Given the description of an element on the screen output the (x, y) to click on. 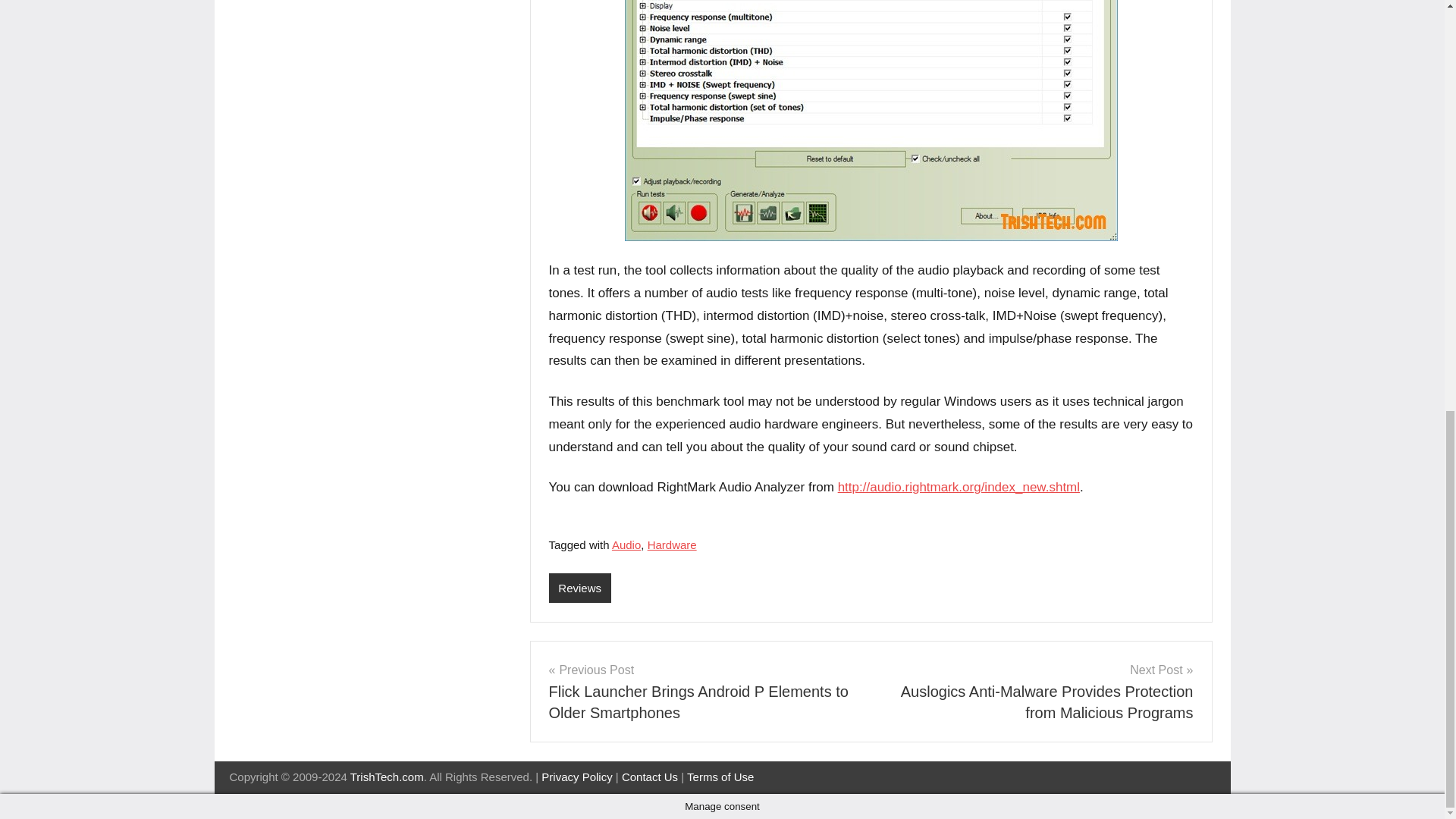
Privacy Policy (576, 776)
Audio (625, 544)
Terms of Use (720, 776)
Hardware (672, 544)
Contact Us (649, 776)
TrishTech.com (386, 776)
Reviews (579, 587)
